Given the description of an element on the screen output the (x, y) to click on. 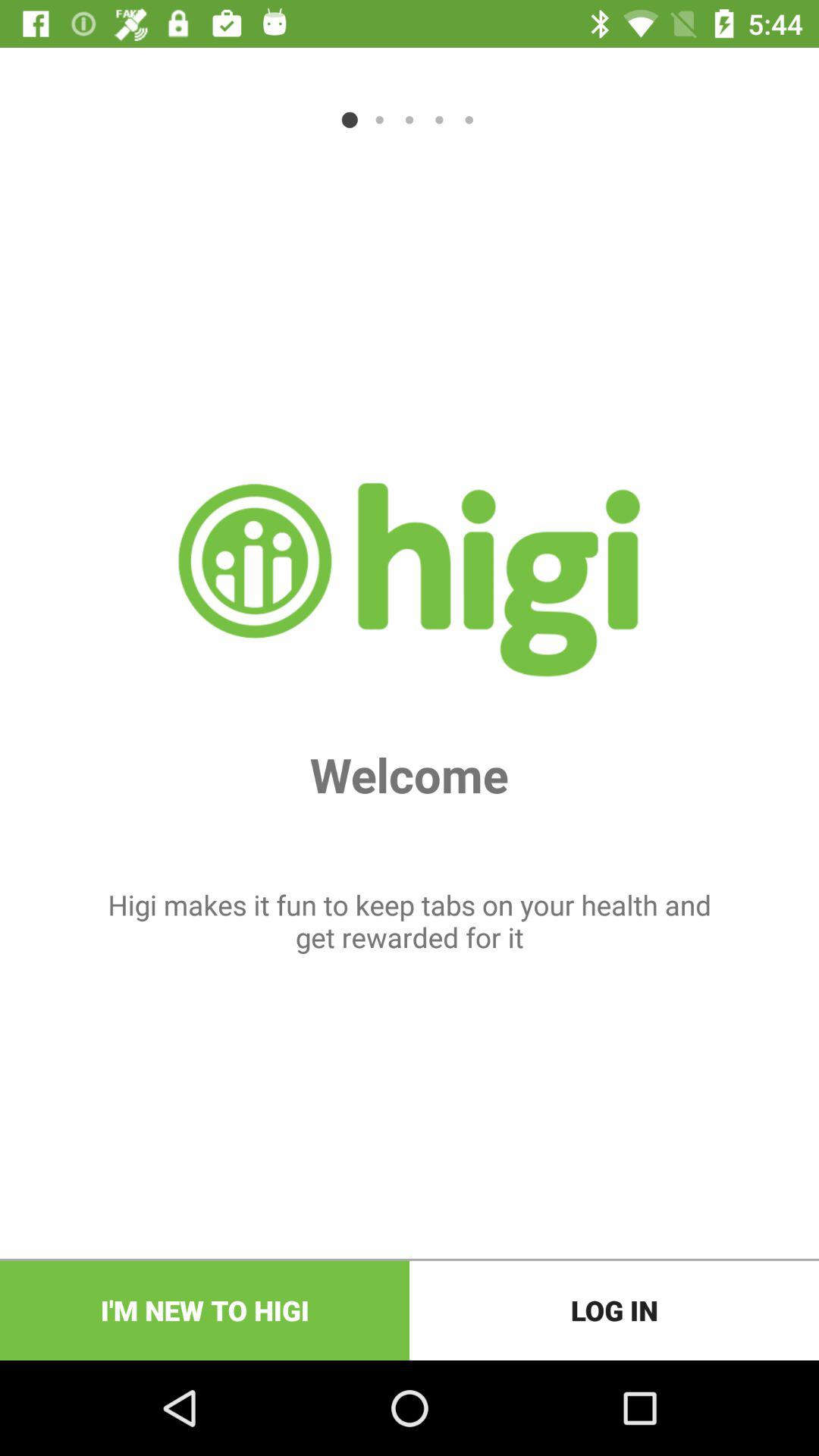
press i m new item (204, 1310)
